Given the description of an element on the screen output the (x, y) to click on. 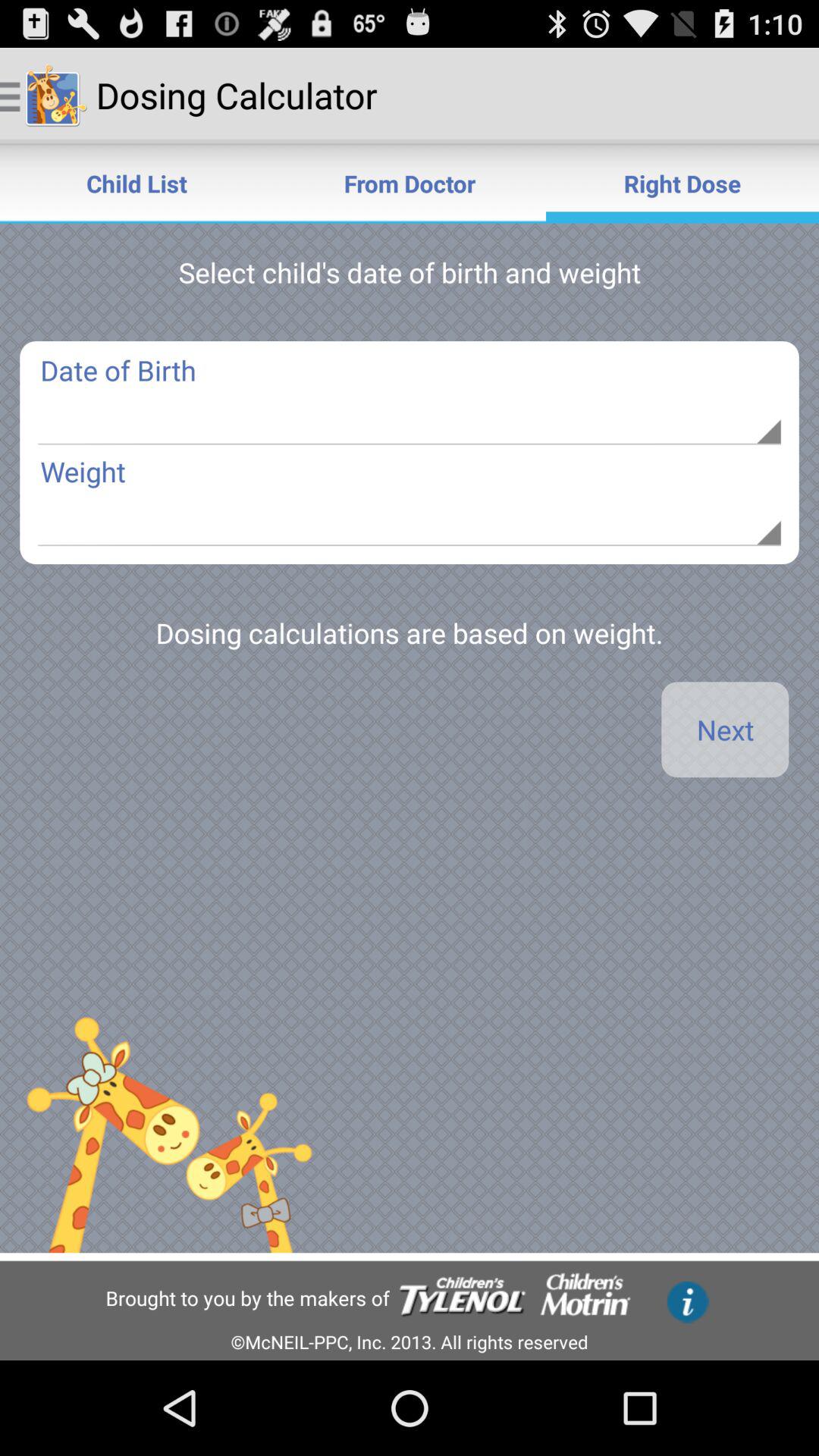
launch item above select child s item (409, 183)
